Given the description of an element on the screen output the (x, y) to click on. 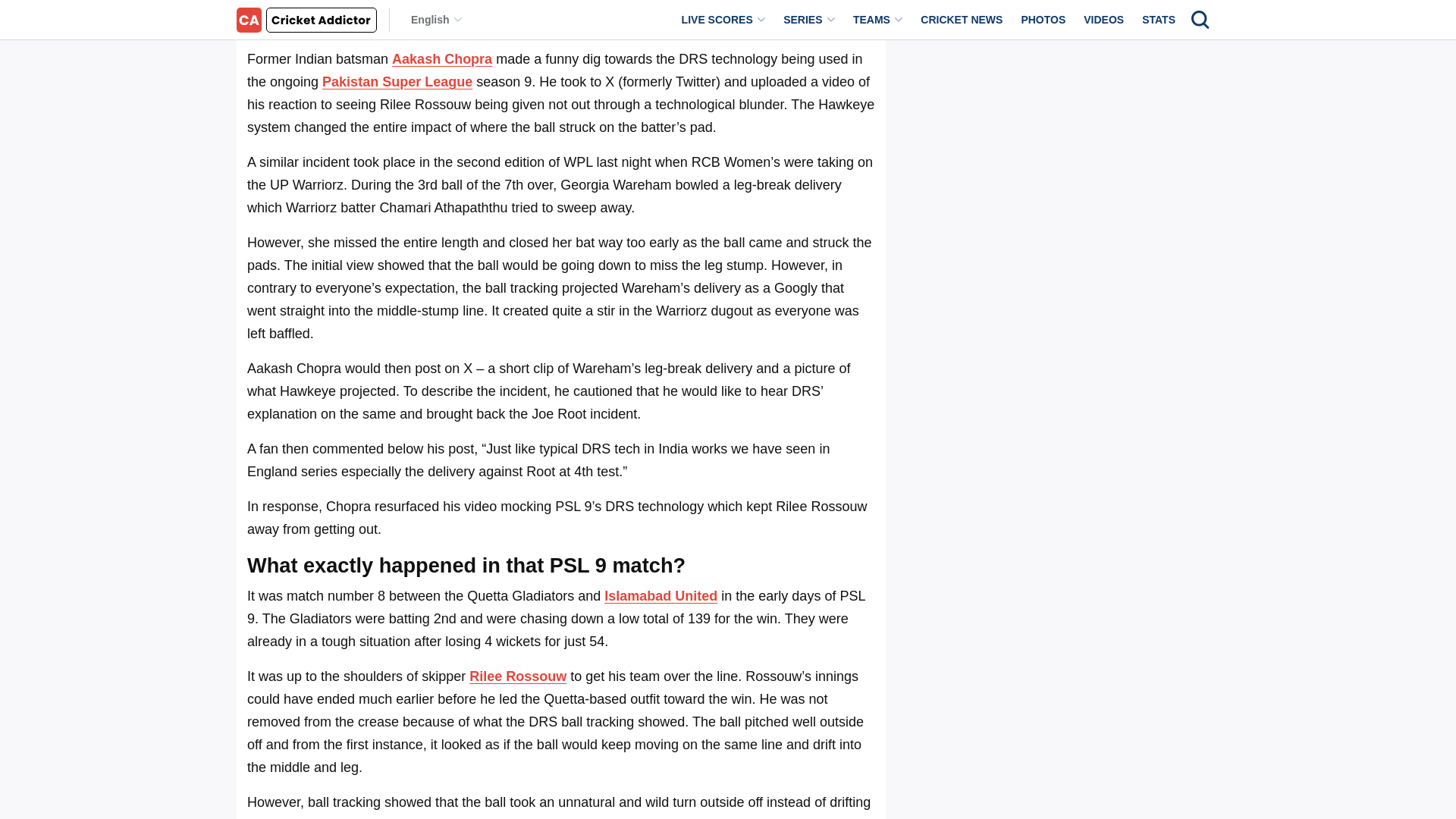
Aakash Chopra (441, 58)
Pakistan Super League (396, 81)
